Given the description of an element on the screen output the (x, y) to click on. 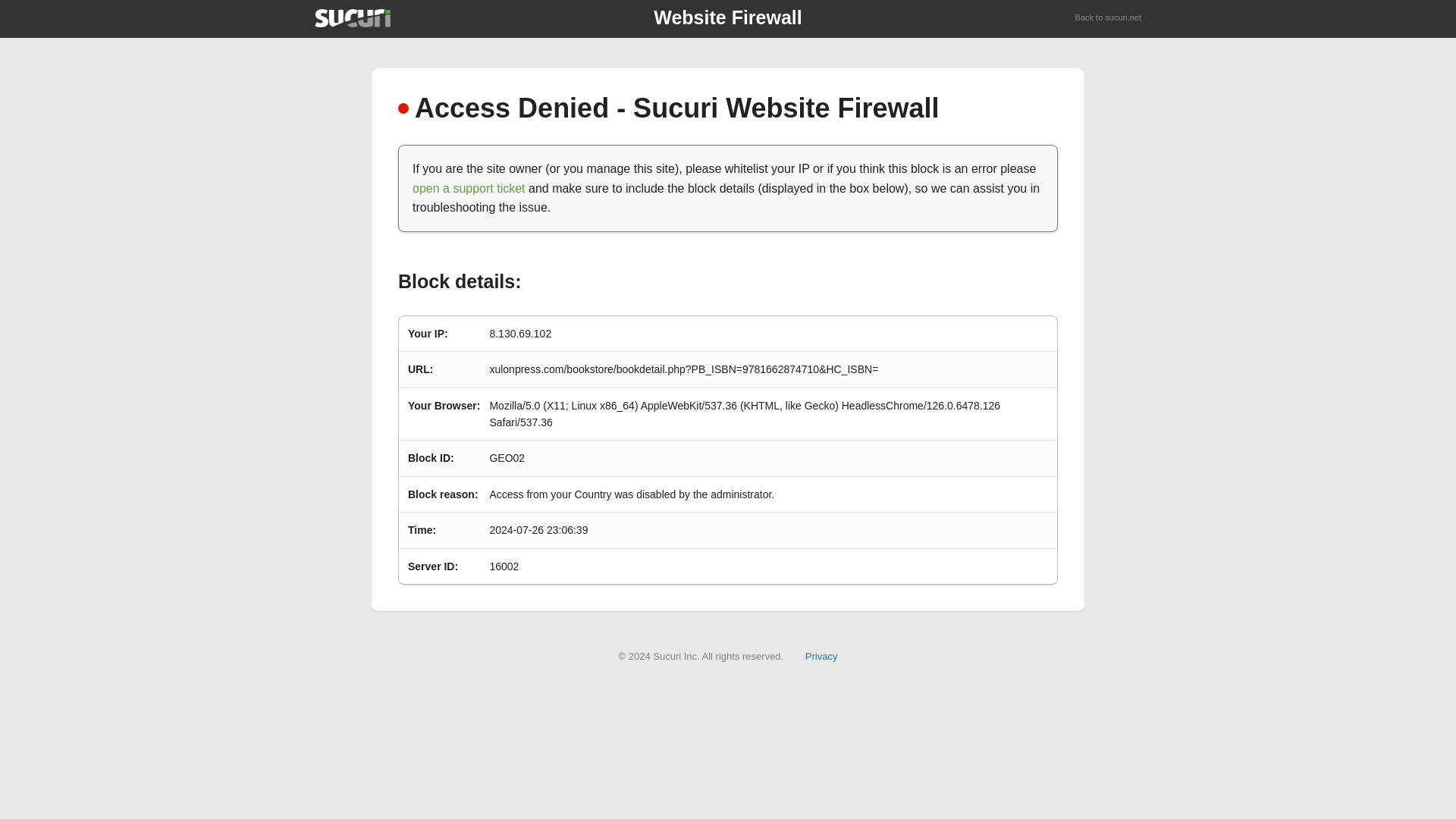
open a support ticket (468, 187)
Back to sucuri.net (1108, 18)
Privacy (821, 655)
